Given the description of an element on the screen output the (x, y) to click on. 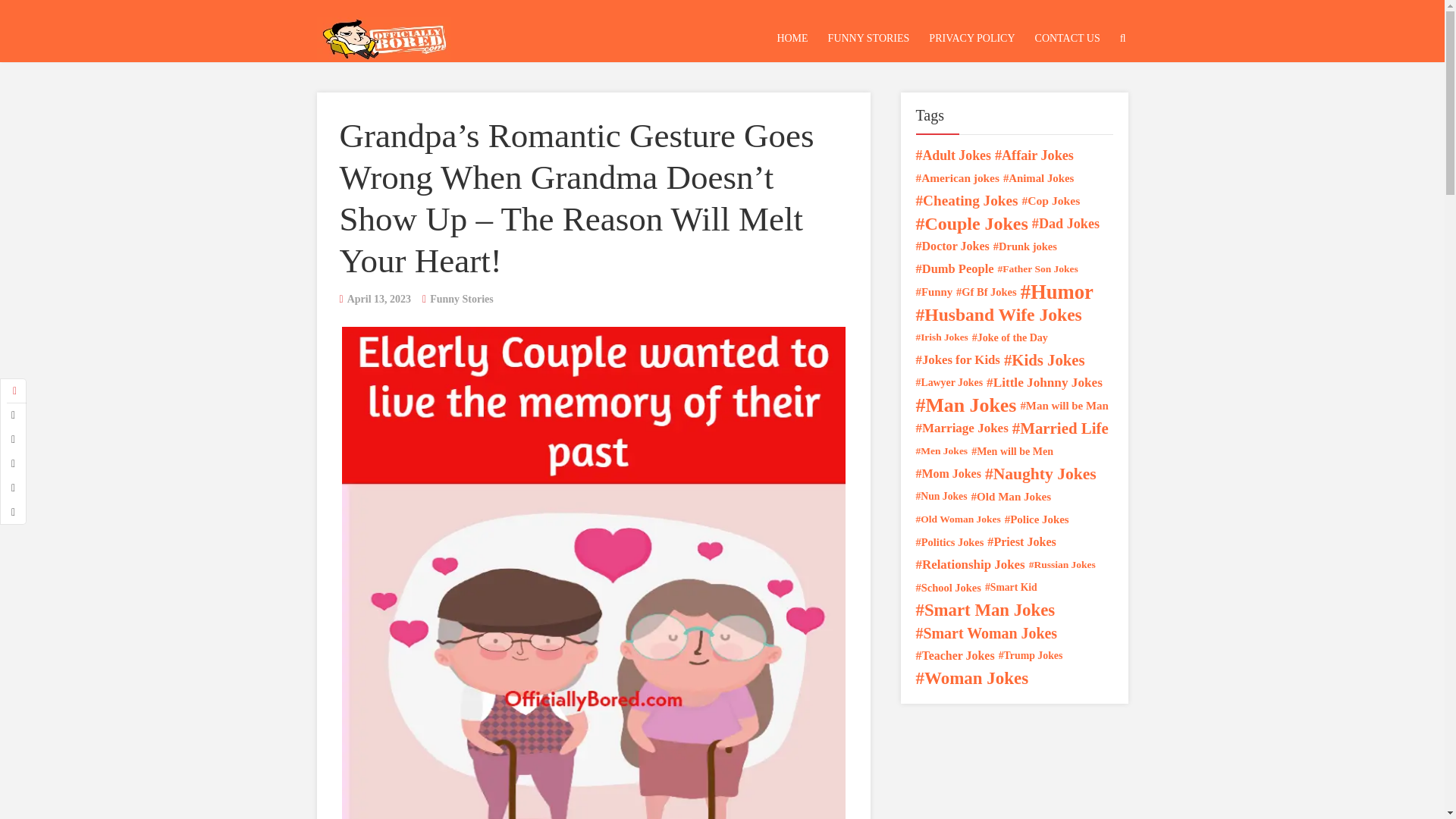
Animal Jokes (1038, 177)
PRIVACY POLICY (971, 38)
American jokes (956, 177)
Cop Jokes (1051, 200)
OfficiallyBored (384, 35)
Cheating Jokes (966, 200)
Affair Jokes (1034, 155)
Funny Stories (461, 298)
CONTACT US (1067, 38)
Couple Jokes (971, 223)
